Given the description of an element on the screen output the (x, y) to click on. 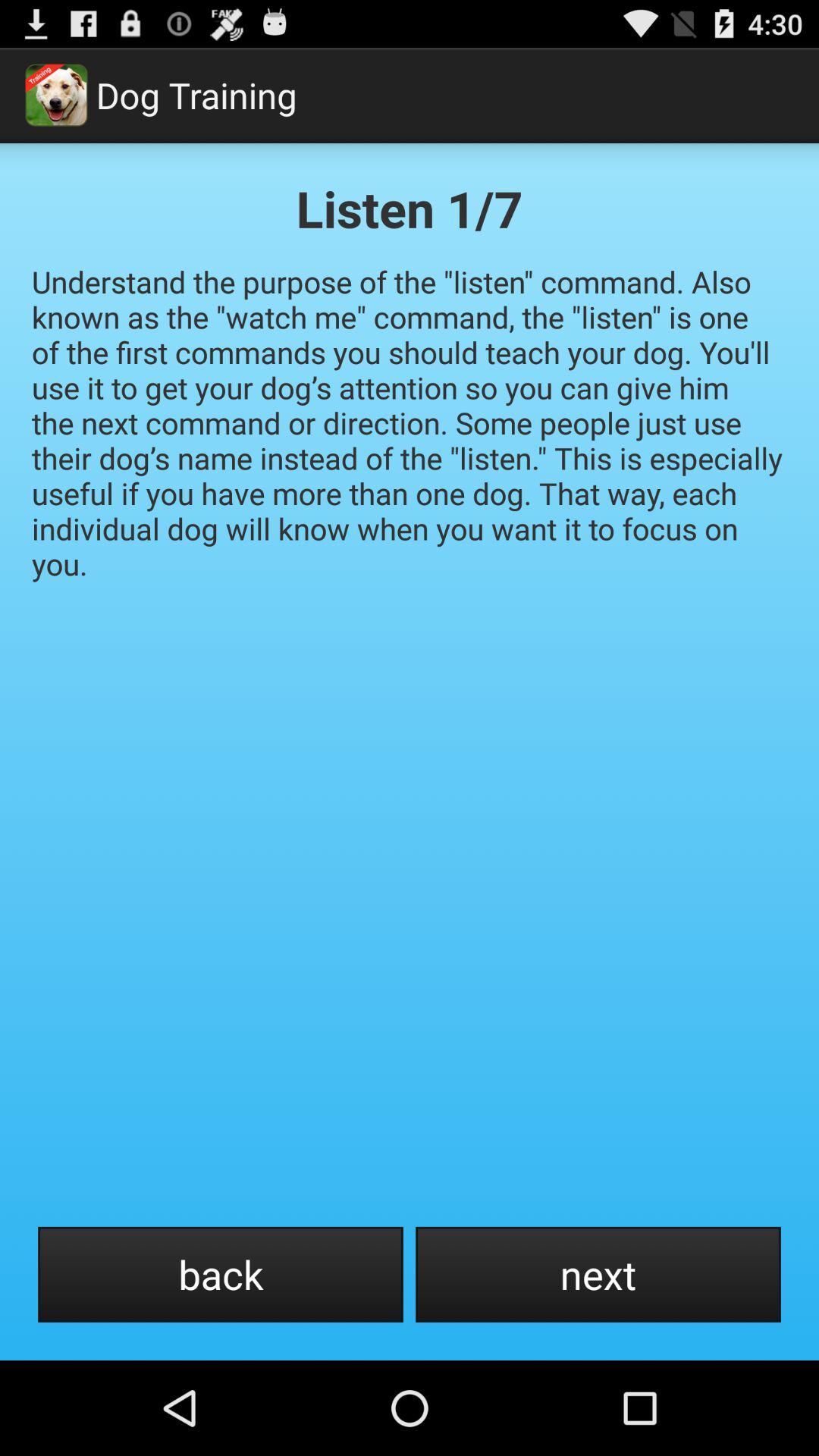
launch icon below the understand the purpose (597, 1274)
